Given the description of an element on the screen output the (x, y) to click on. 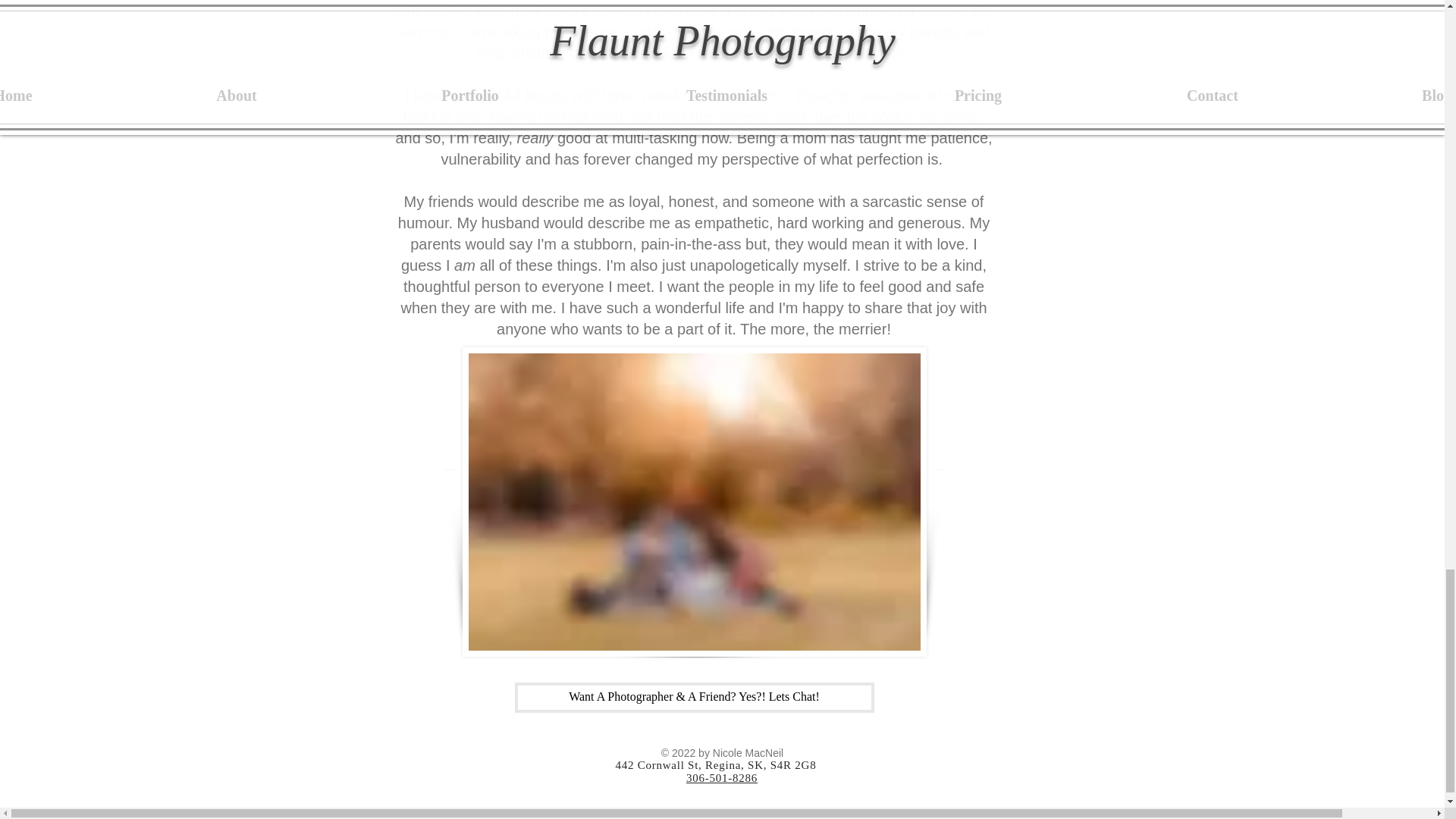
306-501-8286 (721, 777)
